Given the description of an element on the screen output the (x, y) to click on. 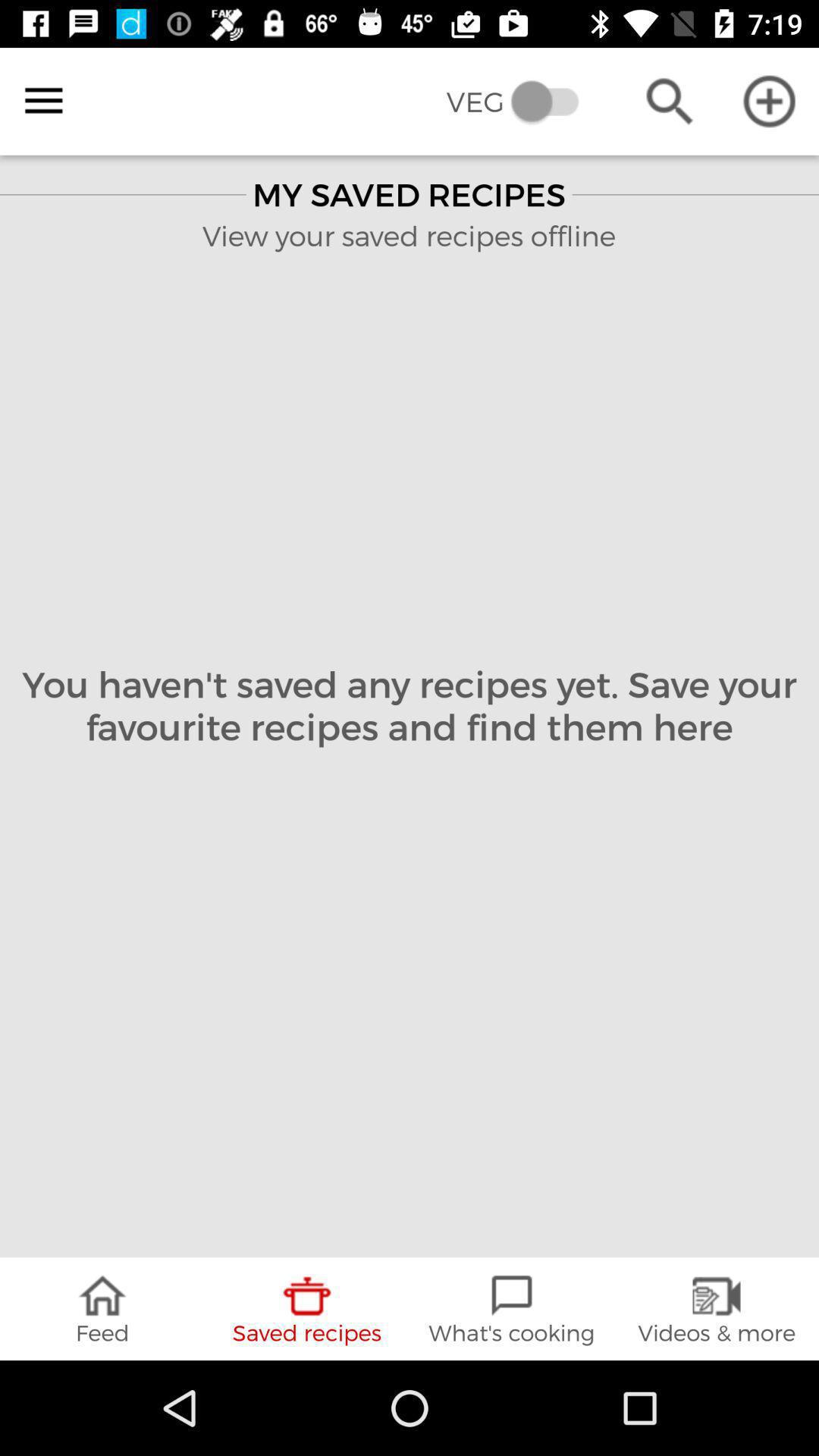
click the item to the right of saved recipes item (511, 1308)
